Given the description of an element on the screen output the (x, y) to click on. 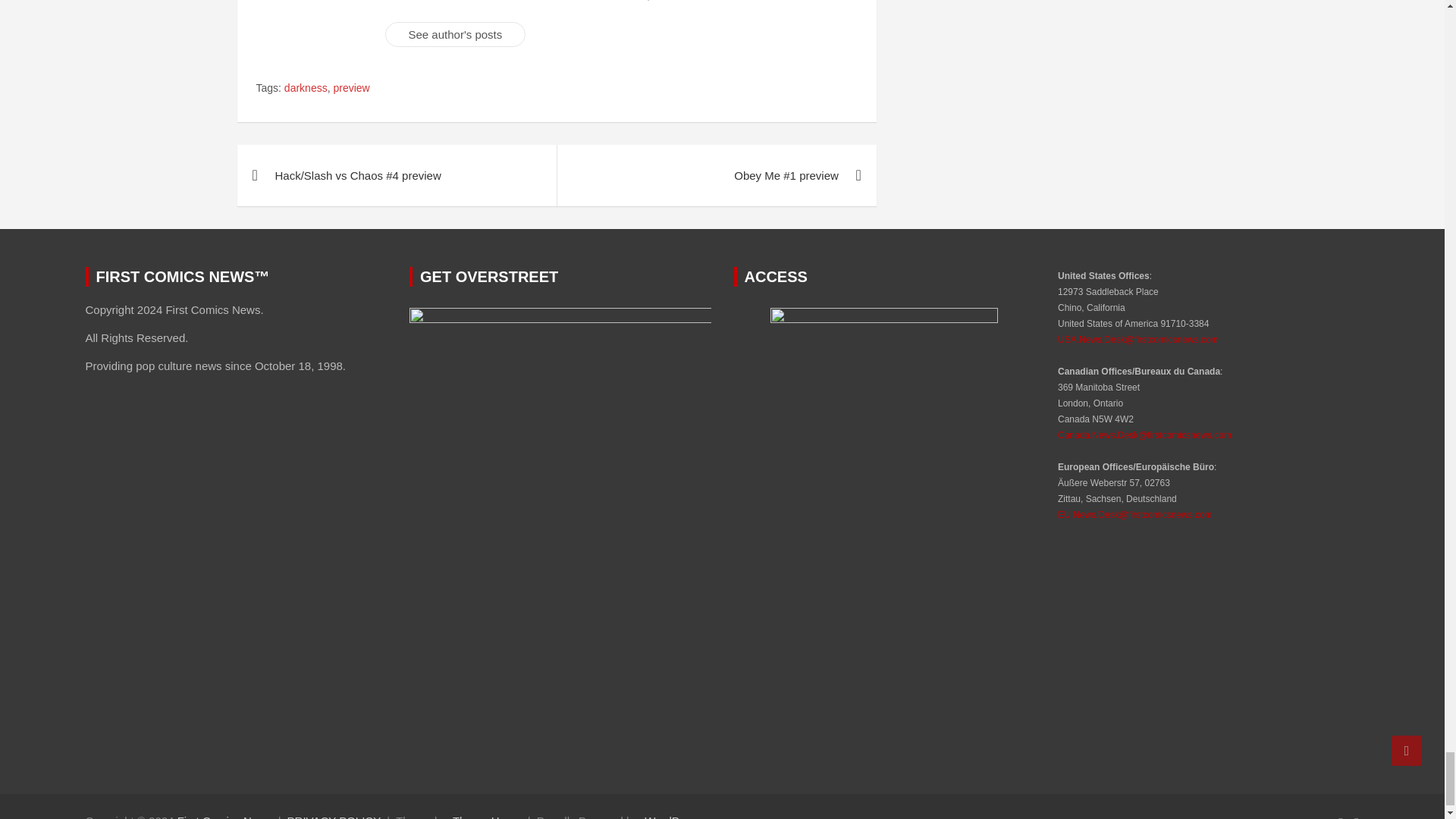
WordPress (672, 816)
First Comics News (224, 816)
Theme Horse (486, 816)
